Given the description of an element on the screen output the (x, y) to click on. 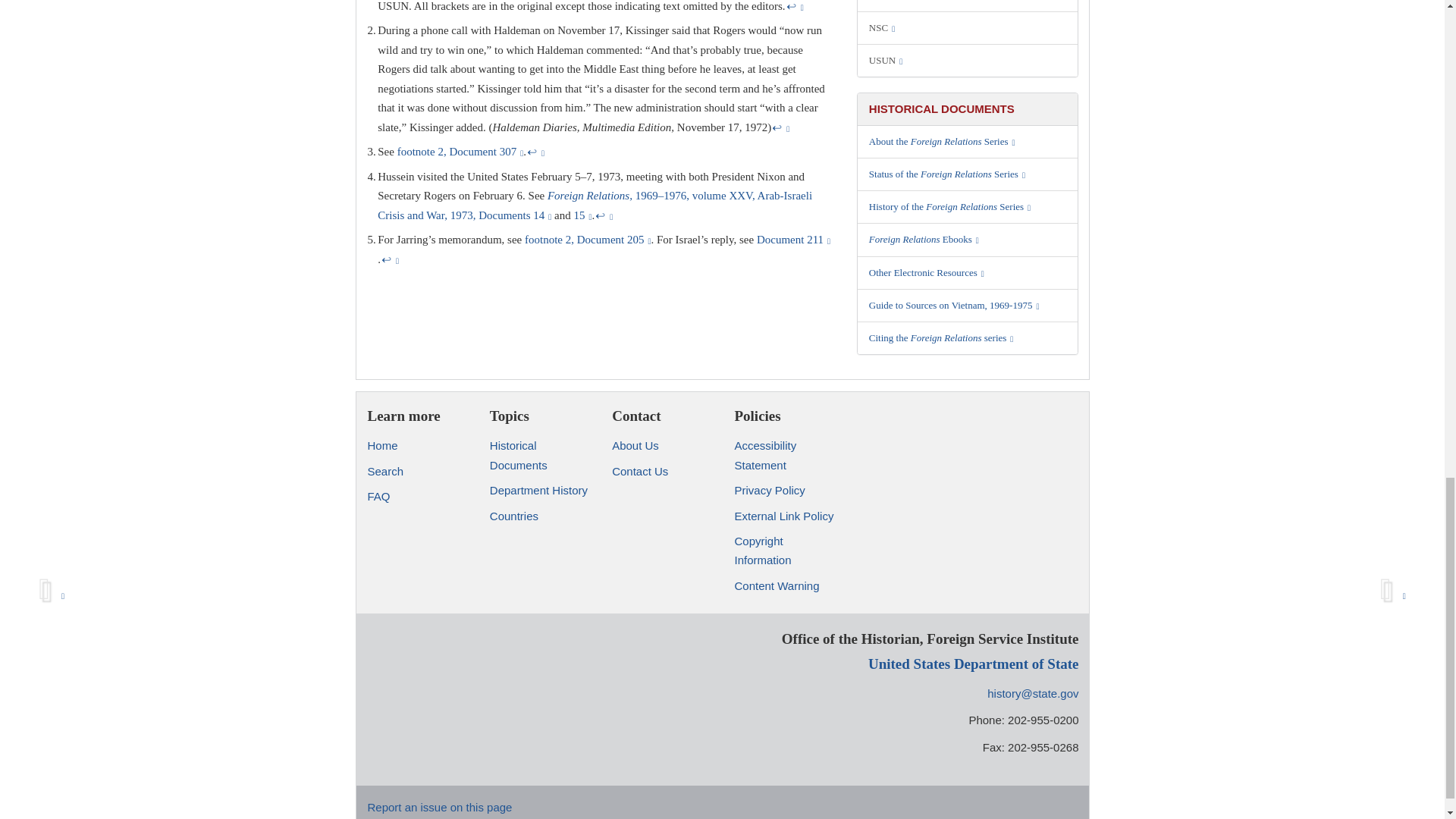
National Security Council (967, 28)
Exclusive Distribution (967, 5)
United States Mission at the United Nations (967, 60)
